Given the description of an element on the screen output the (x, y) to click on. 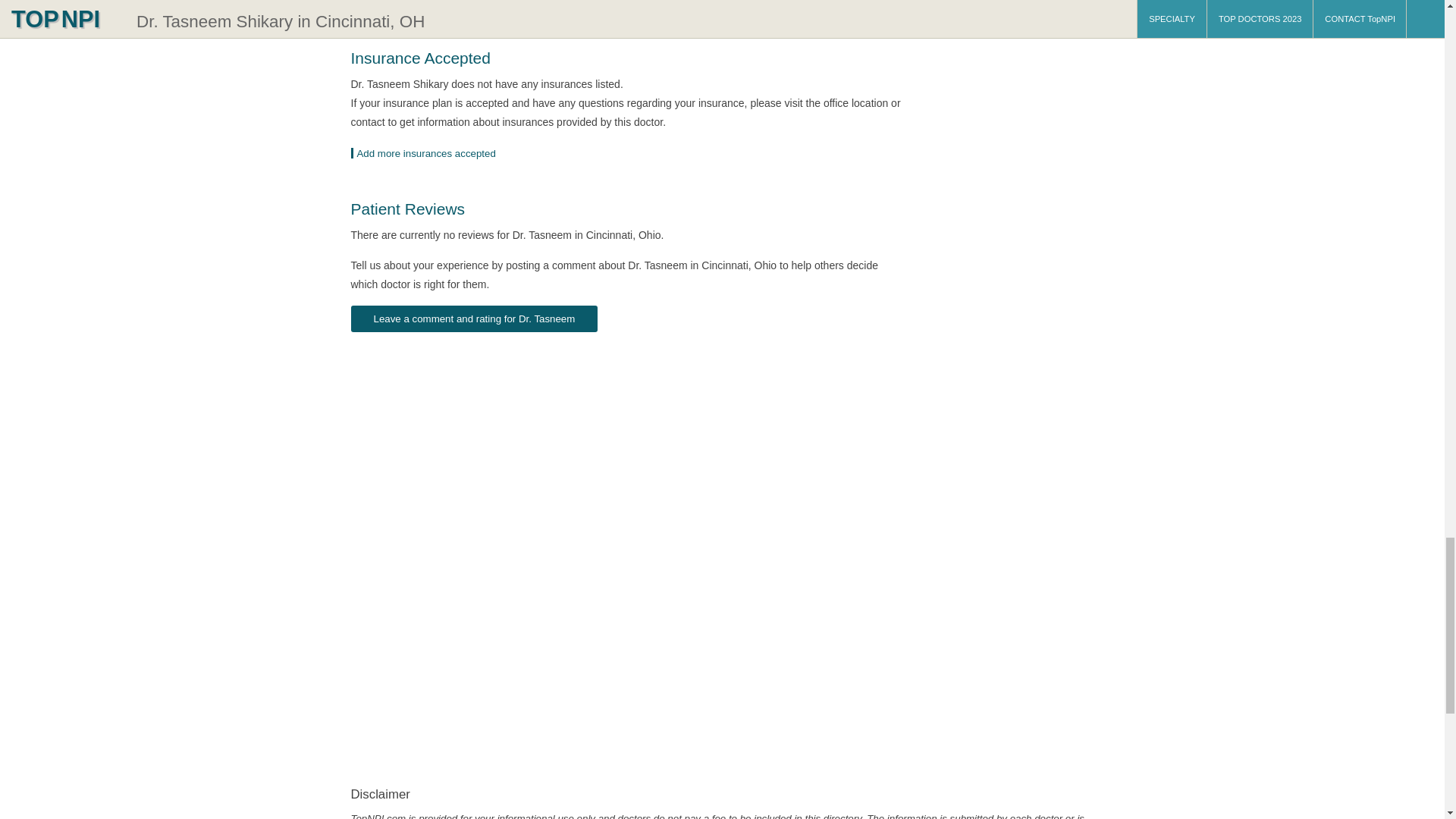
Update location (428, 153)
Leave a comment and rating for Dr. Tasneem (473, 318)
Add more insurances accepted (428, 153)
